Given the description of an element on the screen output the (x, y) to click on. 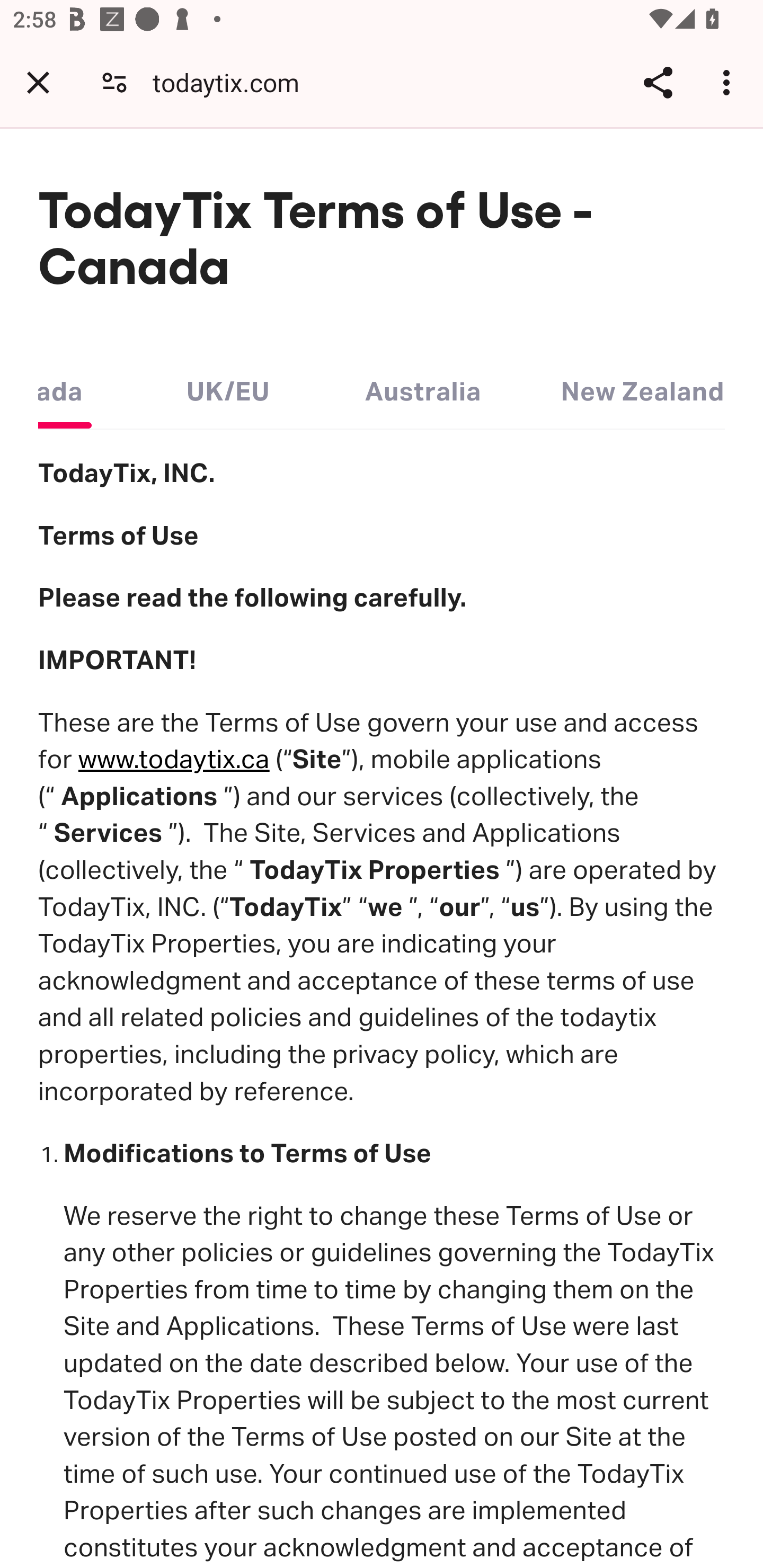
Close tab (38, 82)
Share (657, 82)
Customize and control Google Chrome (729, 82)
Connection is secure (114, 81)
todaytix.com (232, 81)
Canada (65, 387)
UK/EU (228, 387)
Australia (422, 387)
New Zealand (641, 387)
www.todaytix.ca (173, 759)
